Given the description of an element on the screen output the (x, y) to click on. 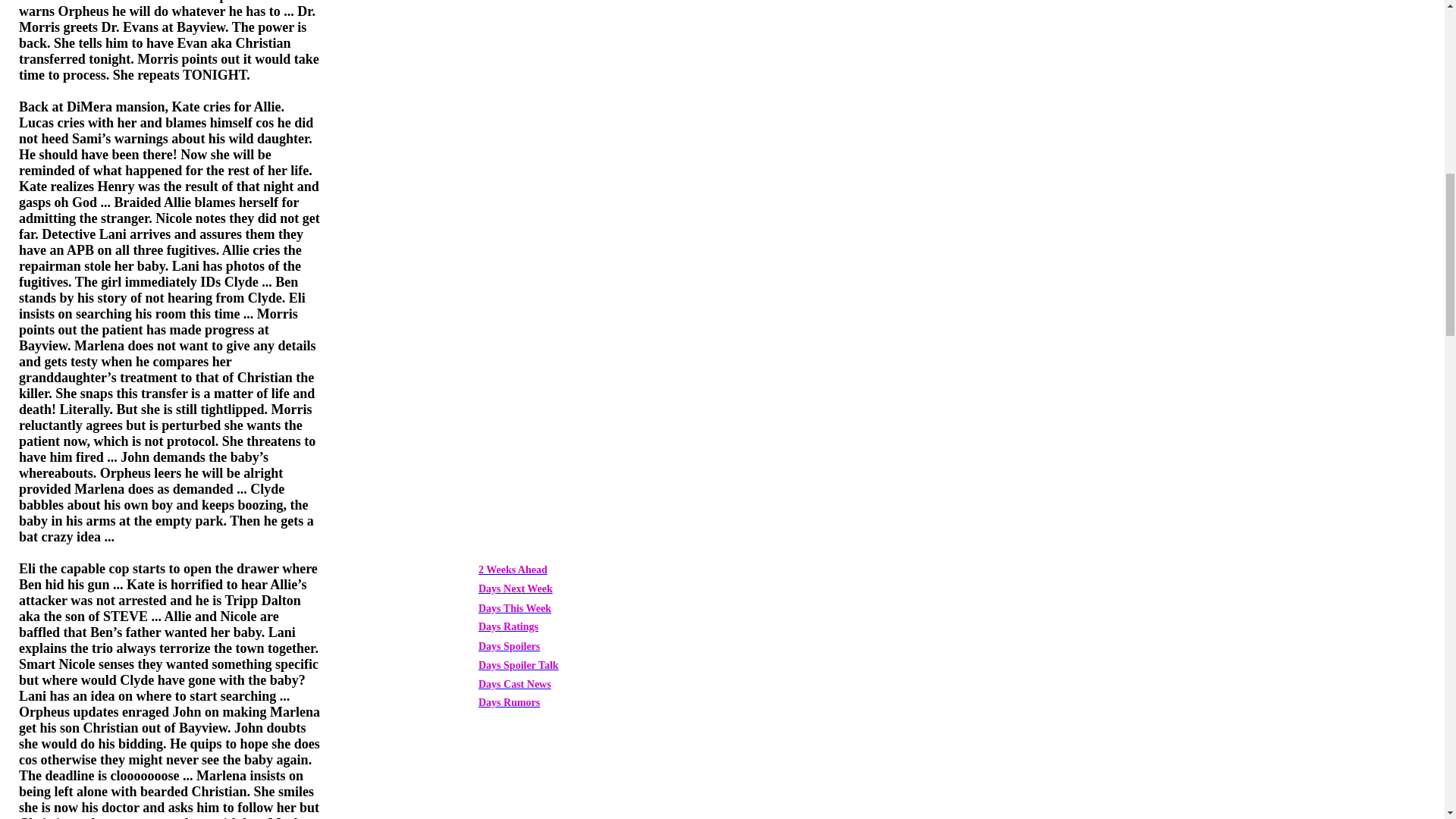
Days Next Week (516, 587)
Days This Week (515, 607)
Days Rumors (509, 701)
Days Spoilers (509, 645)
2 Weeks Ahead (513, 568)
Days Cast News (515, 683)
Days Ratings (508, 625)
Days Spoiler Talk (519, 664)
